Given the description of an element on the screen output the (x, y) to click on. 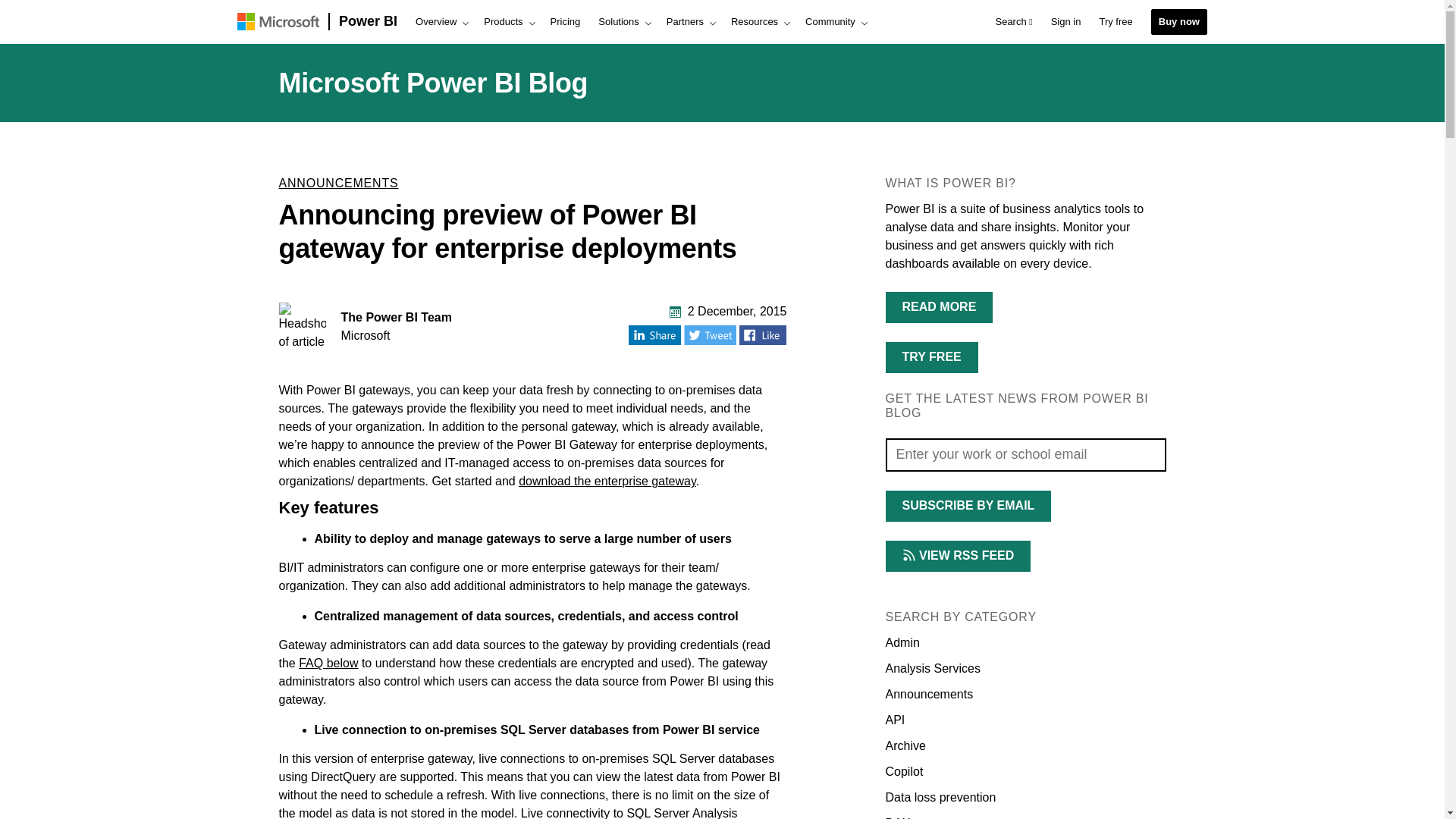
Power BI (368, 21)
Solutions (622, 21)
Overview (440, 21)
Pricing (565, 21)
Search (1013, 21)
Sign in (1066, 21)
Posts by The Power BI Team (395, 317)
Partners (690, 21)
Products (507, 21)
